Given the description of an element on the screen output the (x, y) to click on. 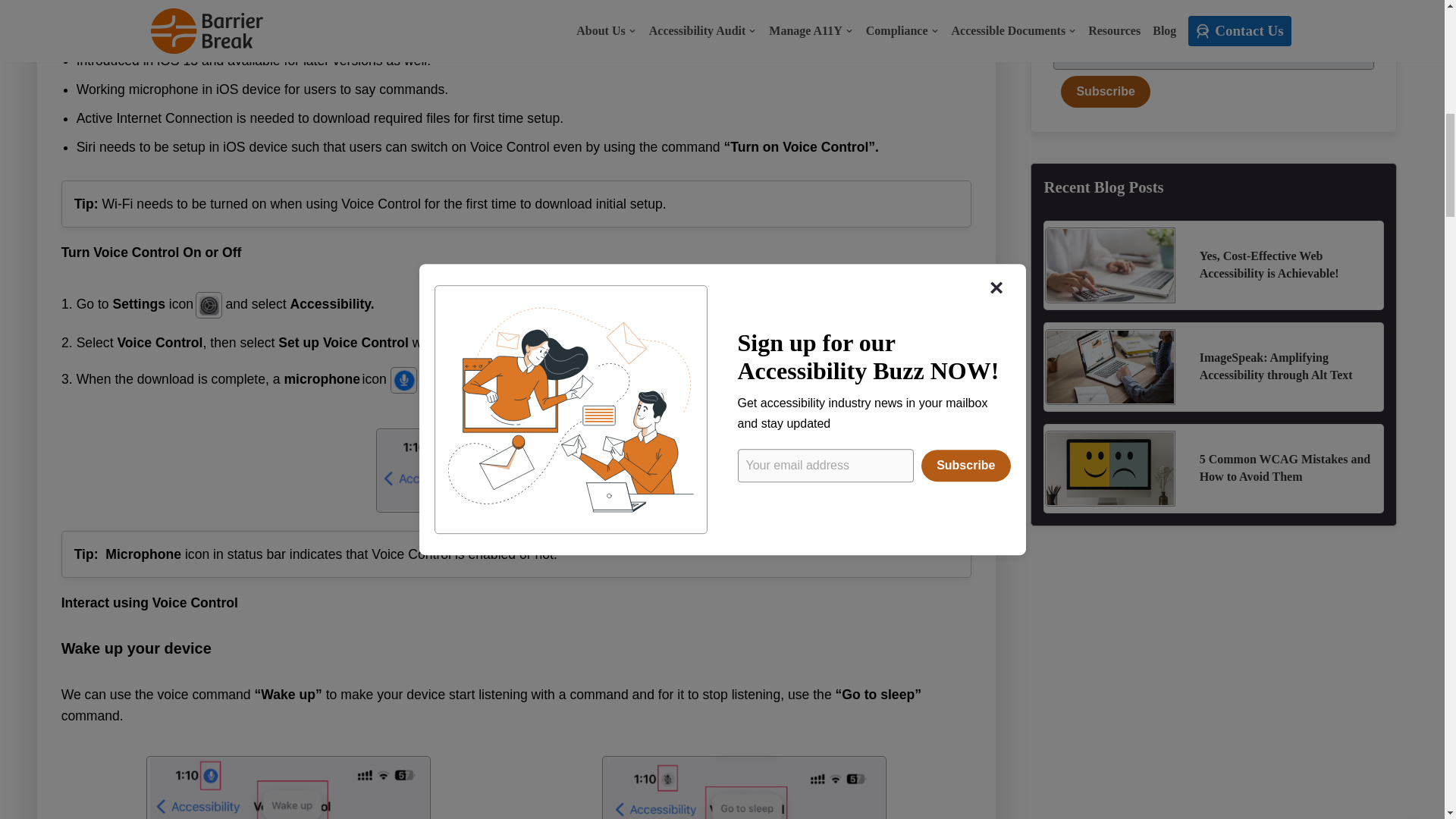
Subscribe (1105, 91)
